Given the description of an element on the screen output the (x, y) to click on. 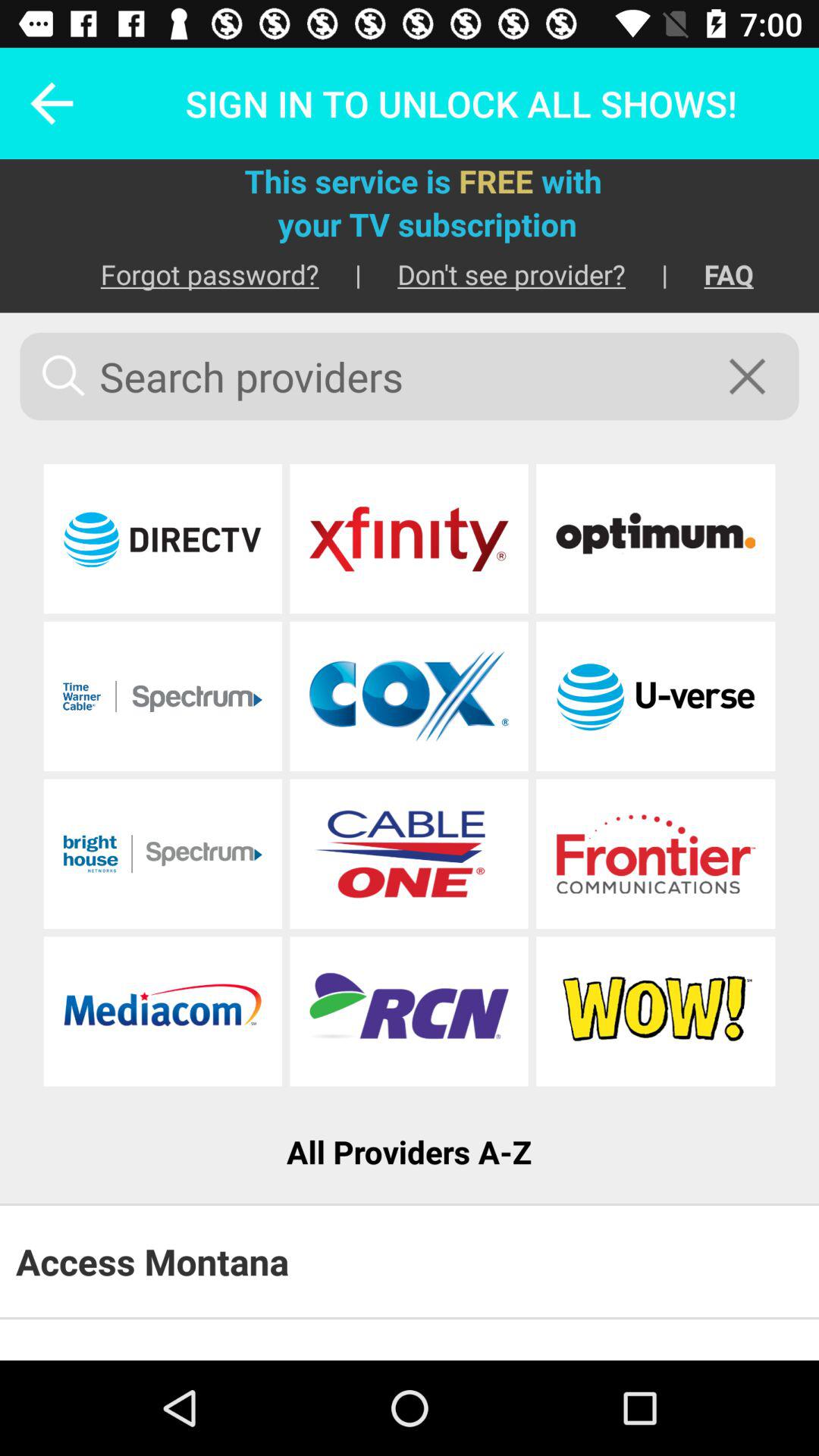
choose provider cox (408, 696)
